Given the description of an element on the screen output the (x, y) to click on. 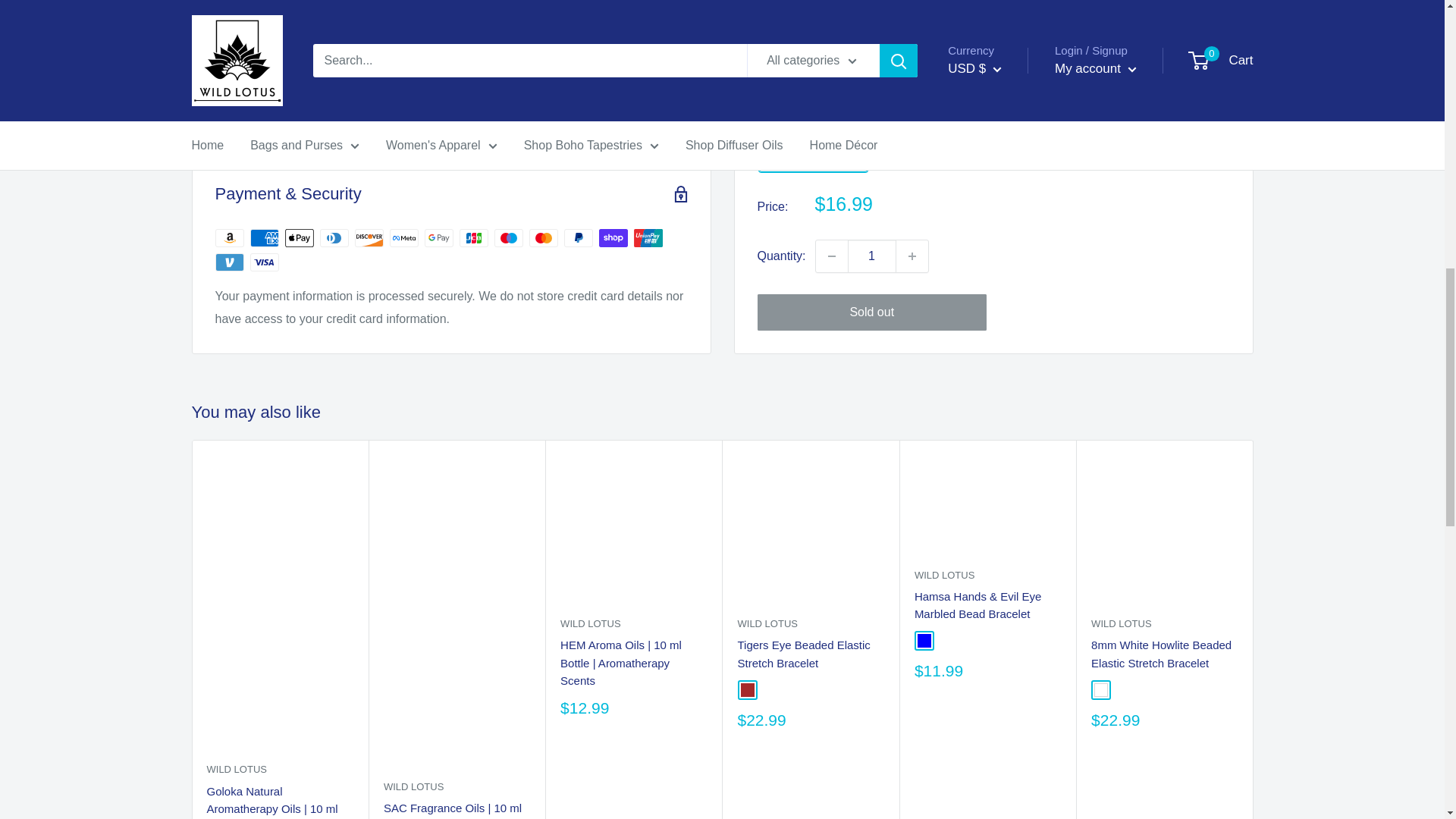
Blue (924, 640)
White (1101, 689)
Brown (746, 689)
